Given the description of an element on the screen output the (x, y) to click on. 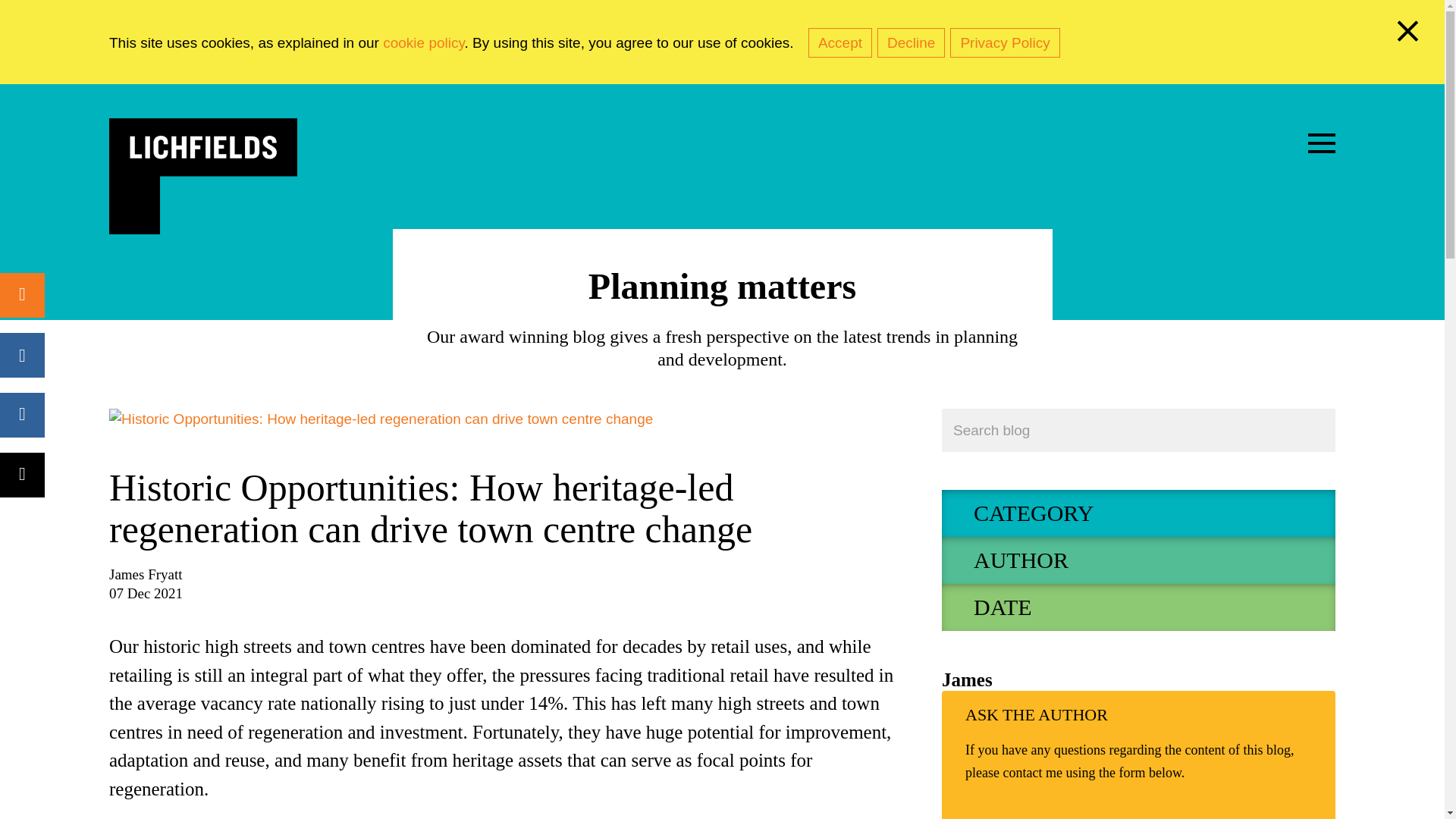
Terms and Conditions (423, 42)
Accept (840, 42)
Privacy Policy (1004, 42)
cookie policy (423, 42)
Decline (910, 42)
